Given the description of an element on the screen output the (x, y) to click on. 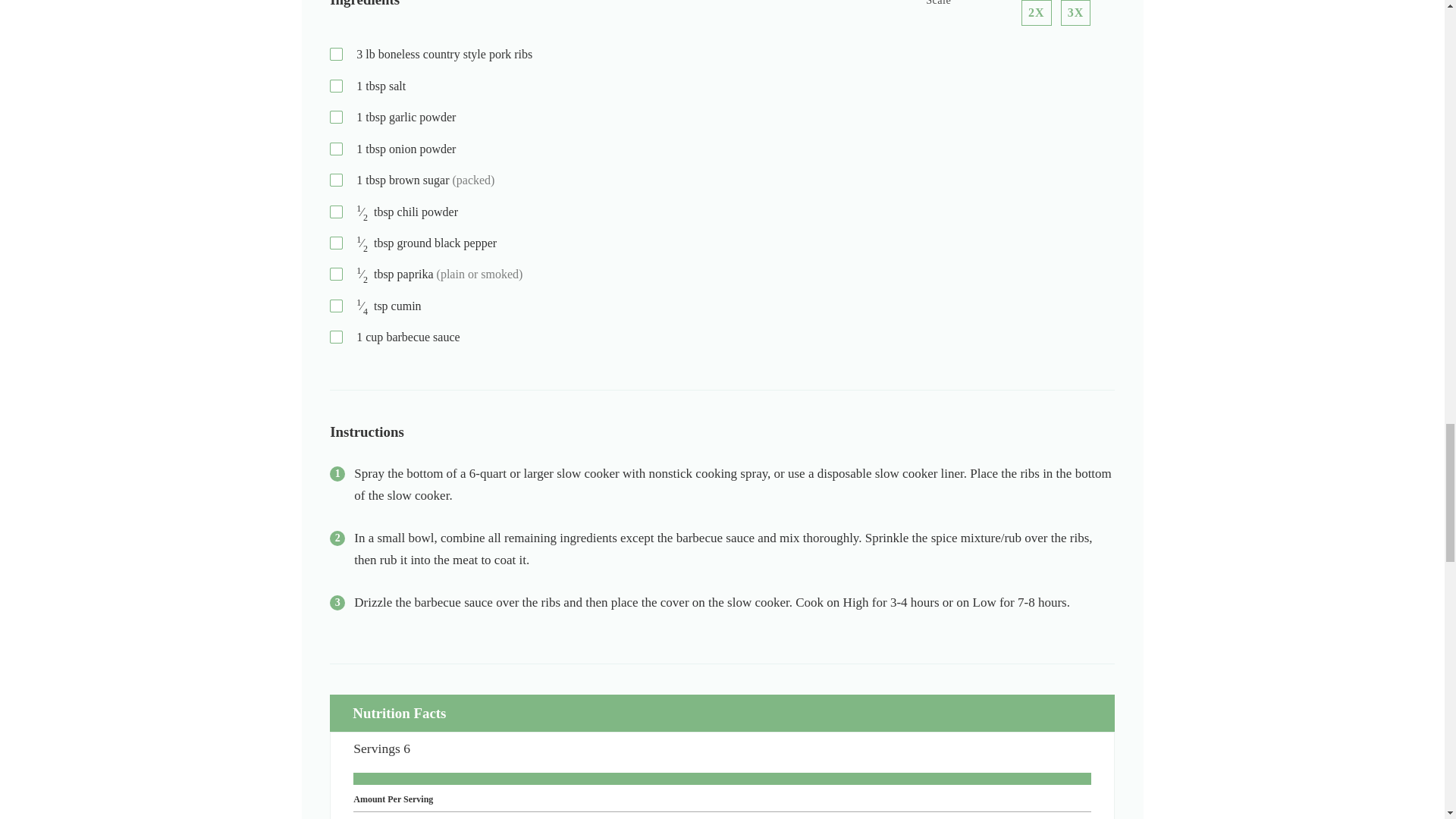
3X (1075, 12)
2X (1036, 12)
